Given the description of an element on the screen output the (x, y) to click on. 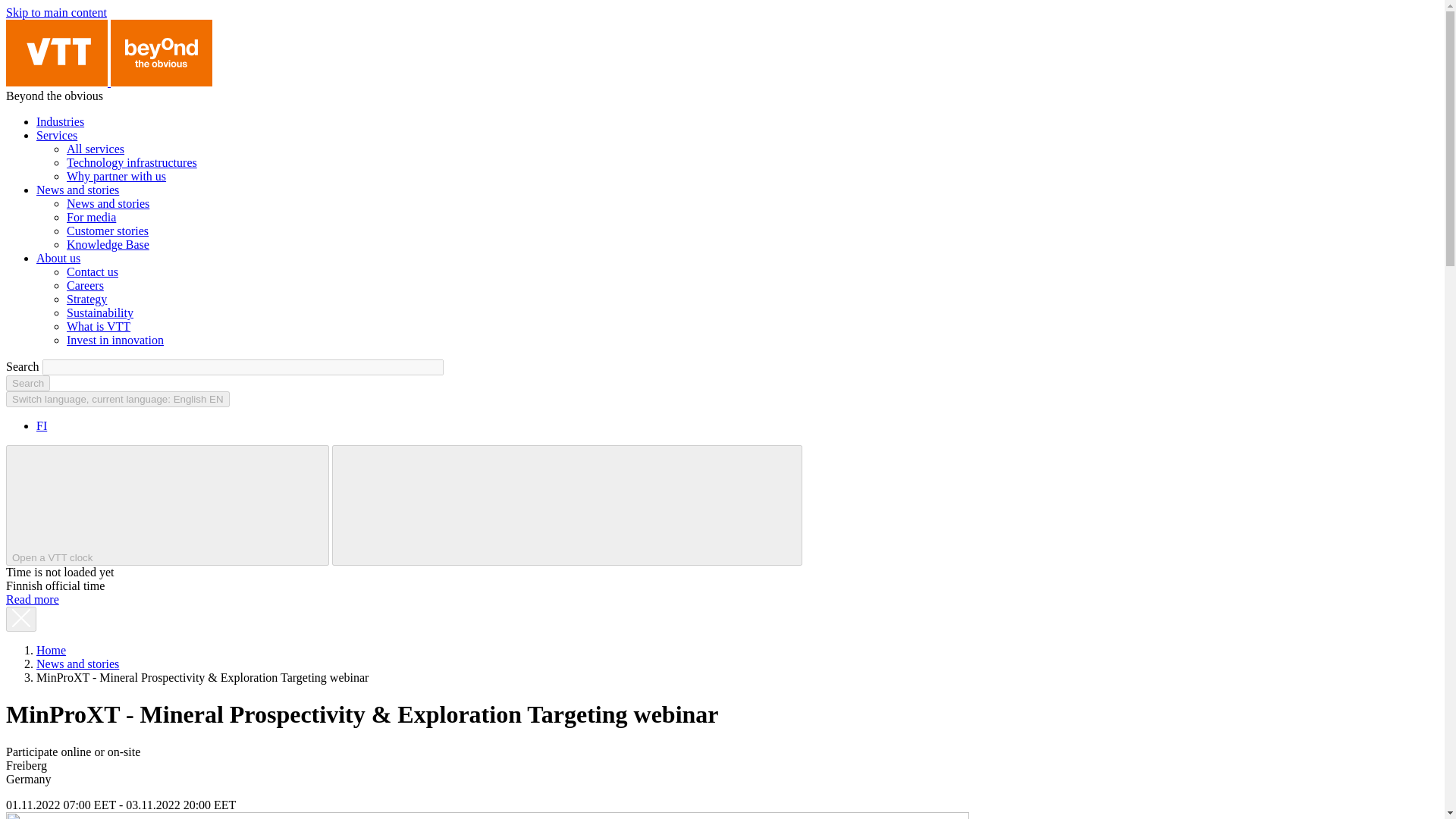
Close mobile menu (682, 504)
For media (91, 216)
Why partner with us (115, 175)
All services (94, 148)
Customer stories (107, 230)
Finnish official time (209, 504)
Search (27, 383)
Sustainability (99, 312)
Technology infrastructures (131, 162)
Services (56, 134)
